Given the description of an element on the screen output the (x, y) to click on. 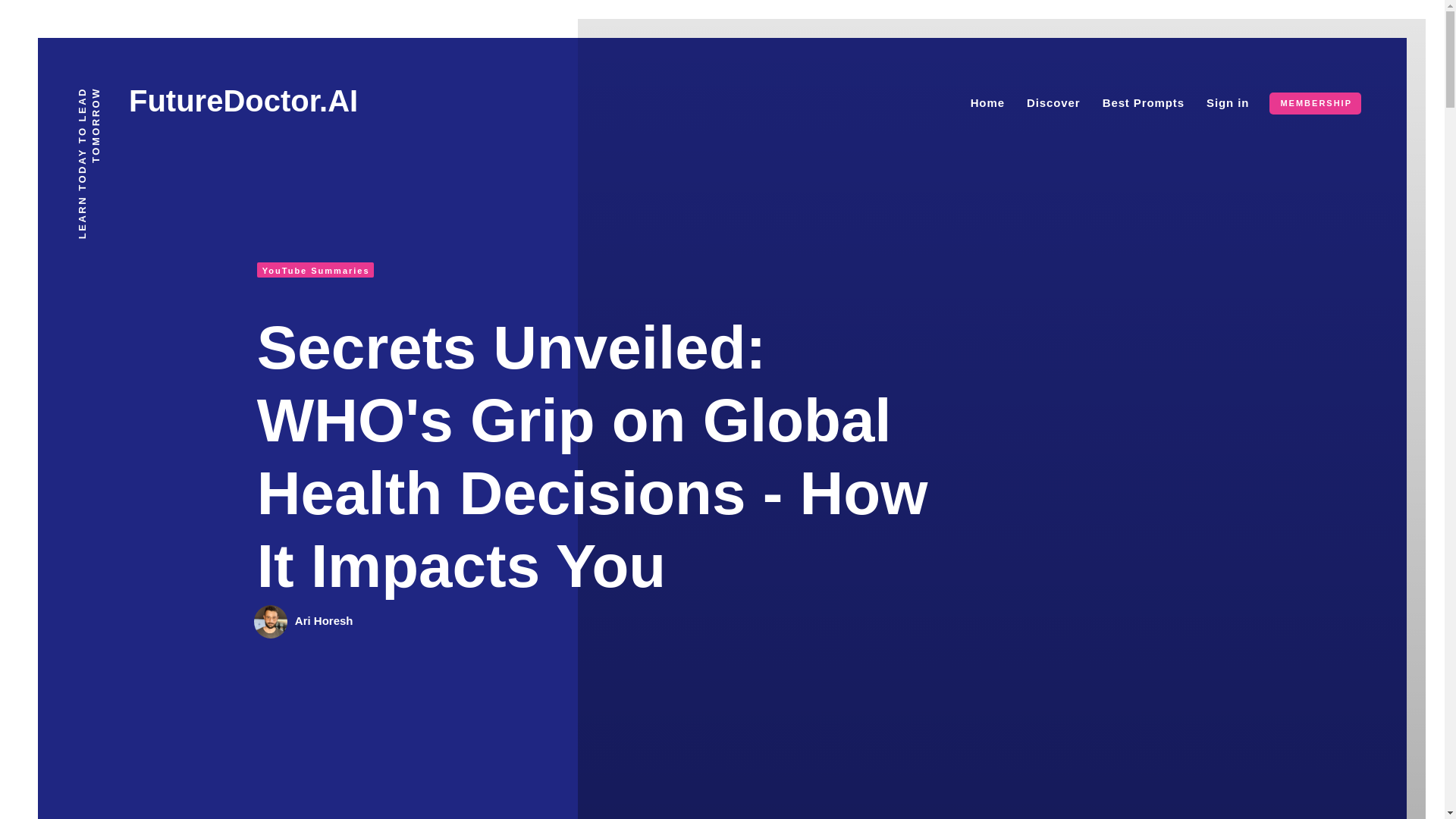
FutureDoctor.AI (243, 100)
Best Prompts (1143, 101)
Home (987, 101)
MEMBERSHIP (1315, 103)
Sign in (1227, 101)
Discover (1053, 101)
YouTube Summaries (315, 270)
Ari Horesh (324, 620)
